Given the description of an element on the screen output the (x, y) to click on. 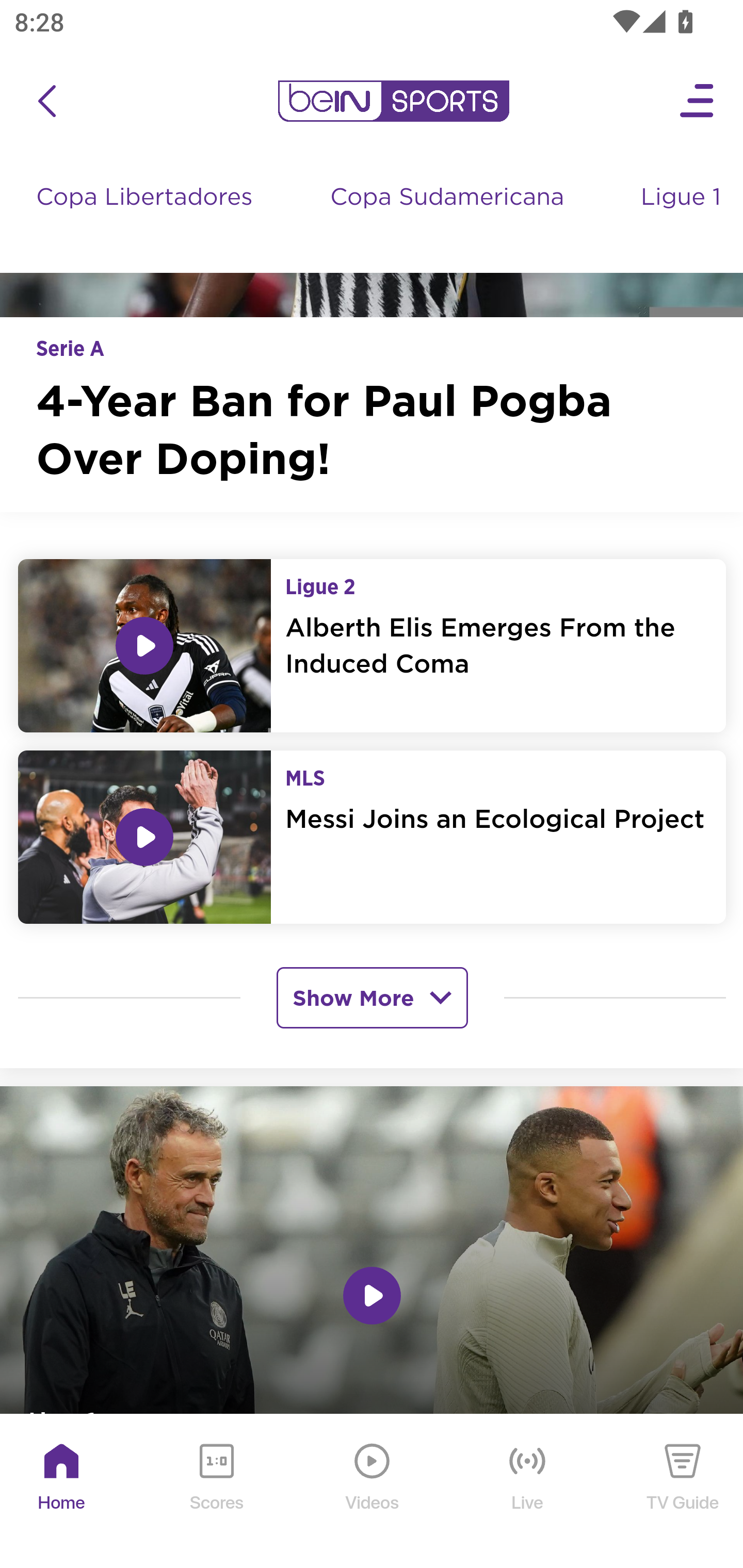
en-us?platform=mobile_android bein logo (392, 103)
icon back (46, 103)
Open Menu Icon (697, 103)
Copa Libertadores (146, 217)
Copa Sudamericana (448, 217)
Ligue 1 (682, 217)
Show More (371, 998)
Home Home Icon Home (61, 1493)
Scores Scores Icon Scores (216, 1493)
Videos Videos Icon Videos (372, 1493)
TV Guide TV Guide Icon TV Guide (682, 1493)
